Given the description of an element on the screen output the (x, y) to click on. 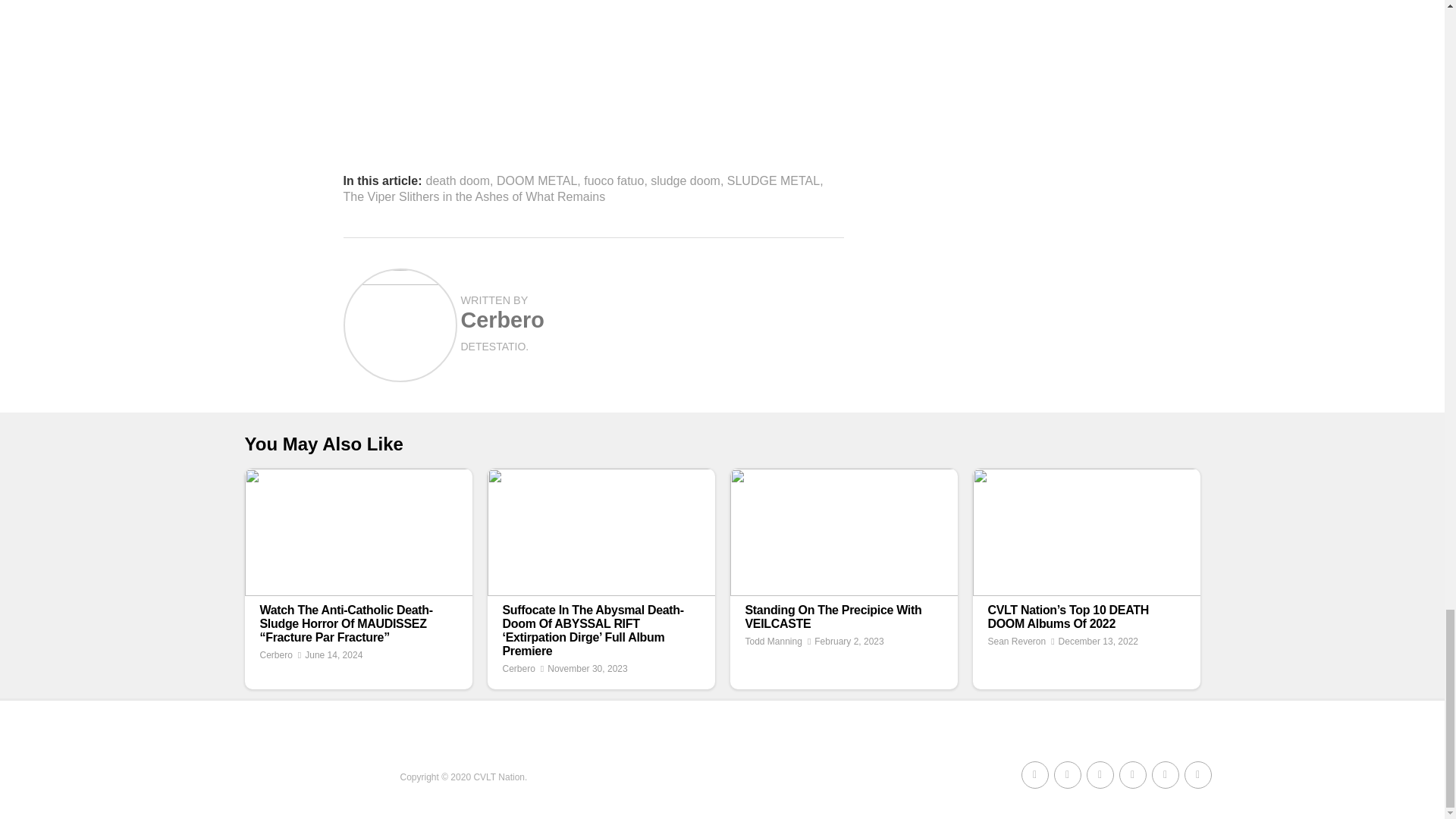
Posts by Cerbero (518, 668)
Posts by Cerbero (502, 319)
Posts by Cerbero (275, 655)
